Given the description of an element on the screen output the (x, y) to click on. 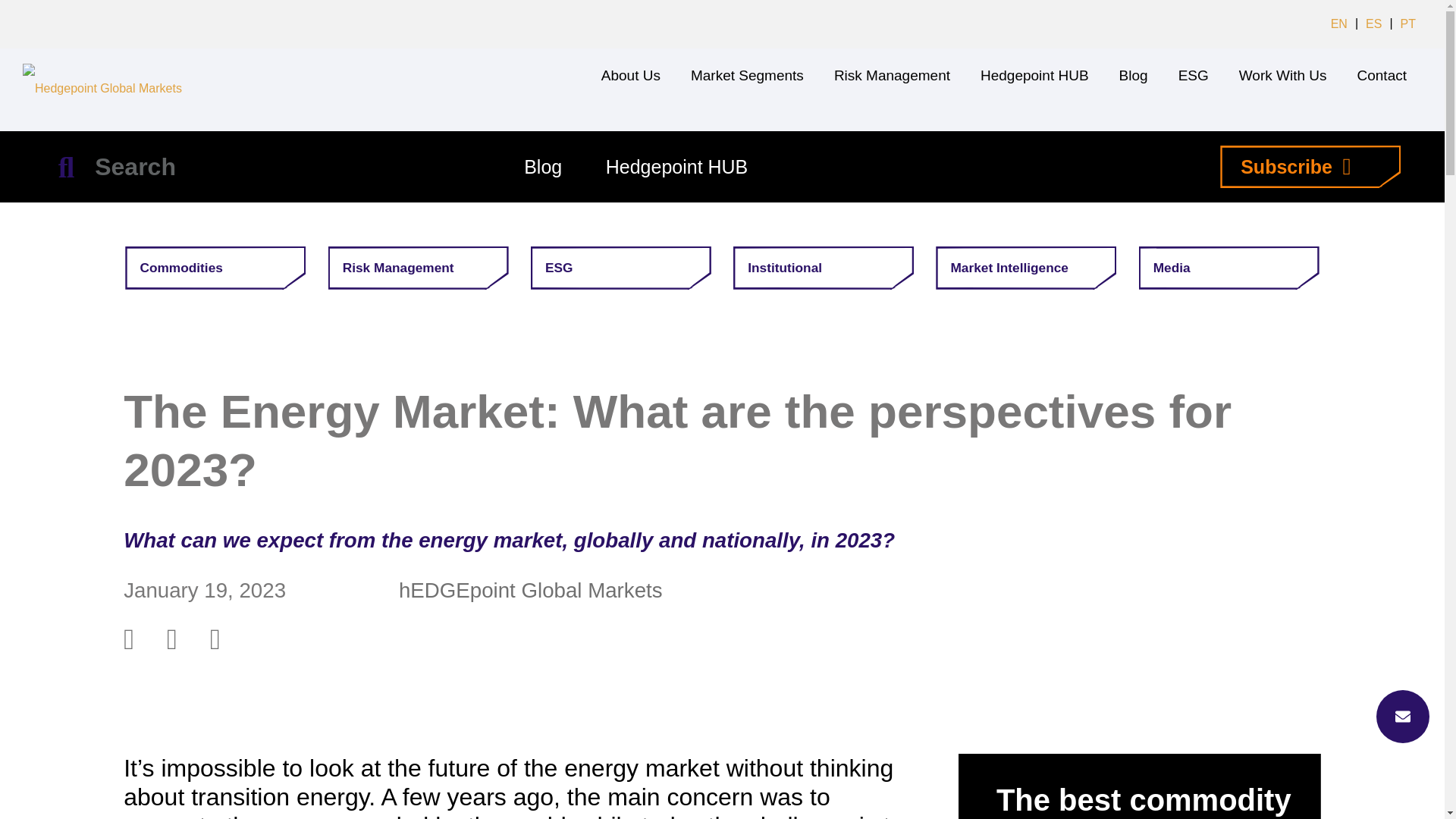
ES (1373, 24)
About Us (630, 75)
Market Segments (746, 75)
PT (1408, 24)
About Us (630, 75)
Market Segments (746, 75)
Hedgepoint HUB (1034, 75)
ESG (1193, 75)
EN (1339, 24)
Risk Management (891, 75)
